Given the description of an element on the screen output the (x, y) to click on. 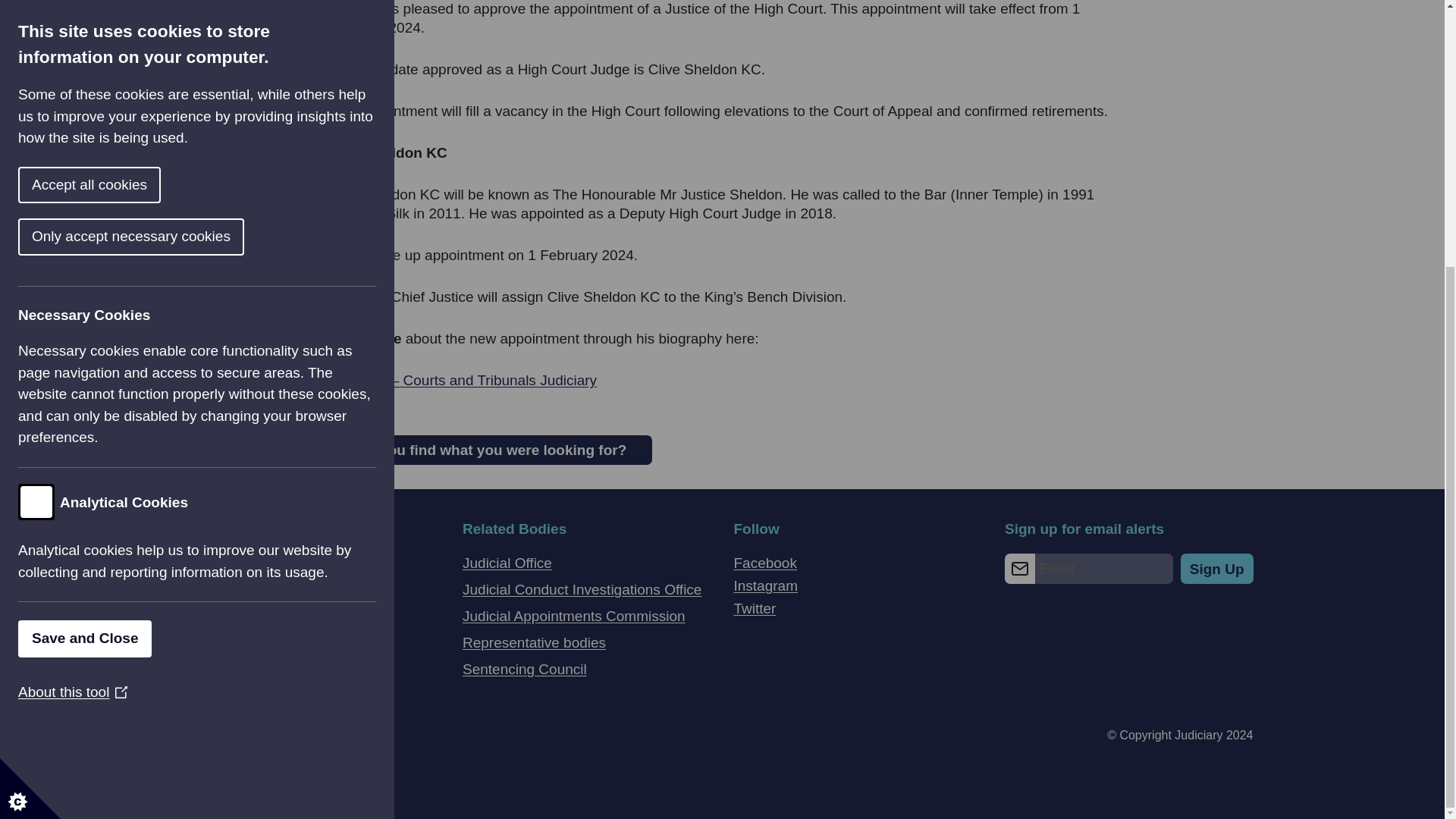
Sign Up (1216, 568)
